Given the description of an element on the screen output the (x, y) to click on. 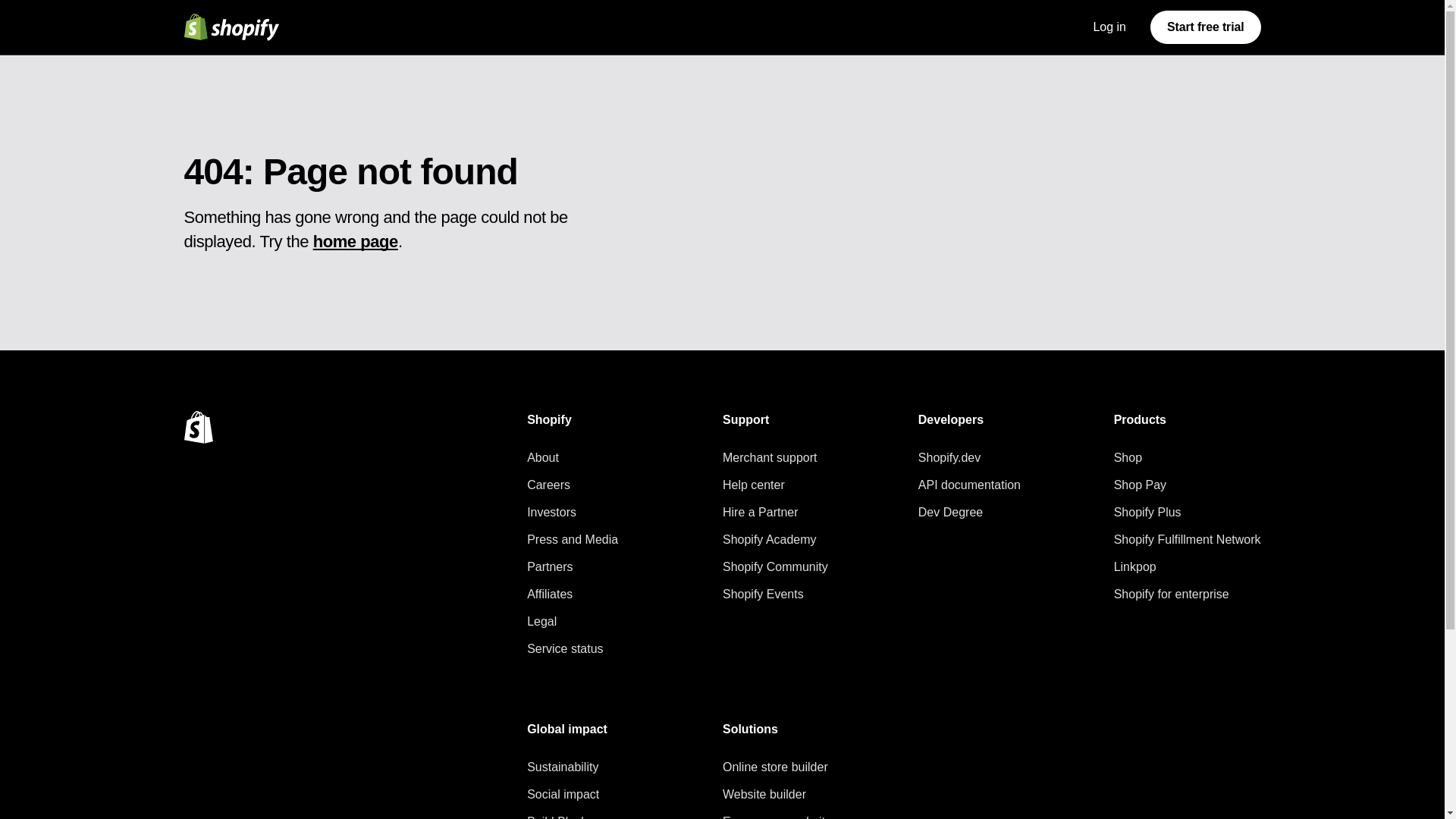
Shopify Academy (775, 539)
Service status (572, 649)
Help center (775, 485)
Investors (572, 512)
Shopify Community (775, 567)
Shop (1186, 457)
Shopify.dev (969, 457)
Hire a Partner (775, 512)
Press and Media (572, 539)
Sustainability (567, 767)
